Given the description of an element on the screen output the (x, y) to click on. 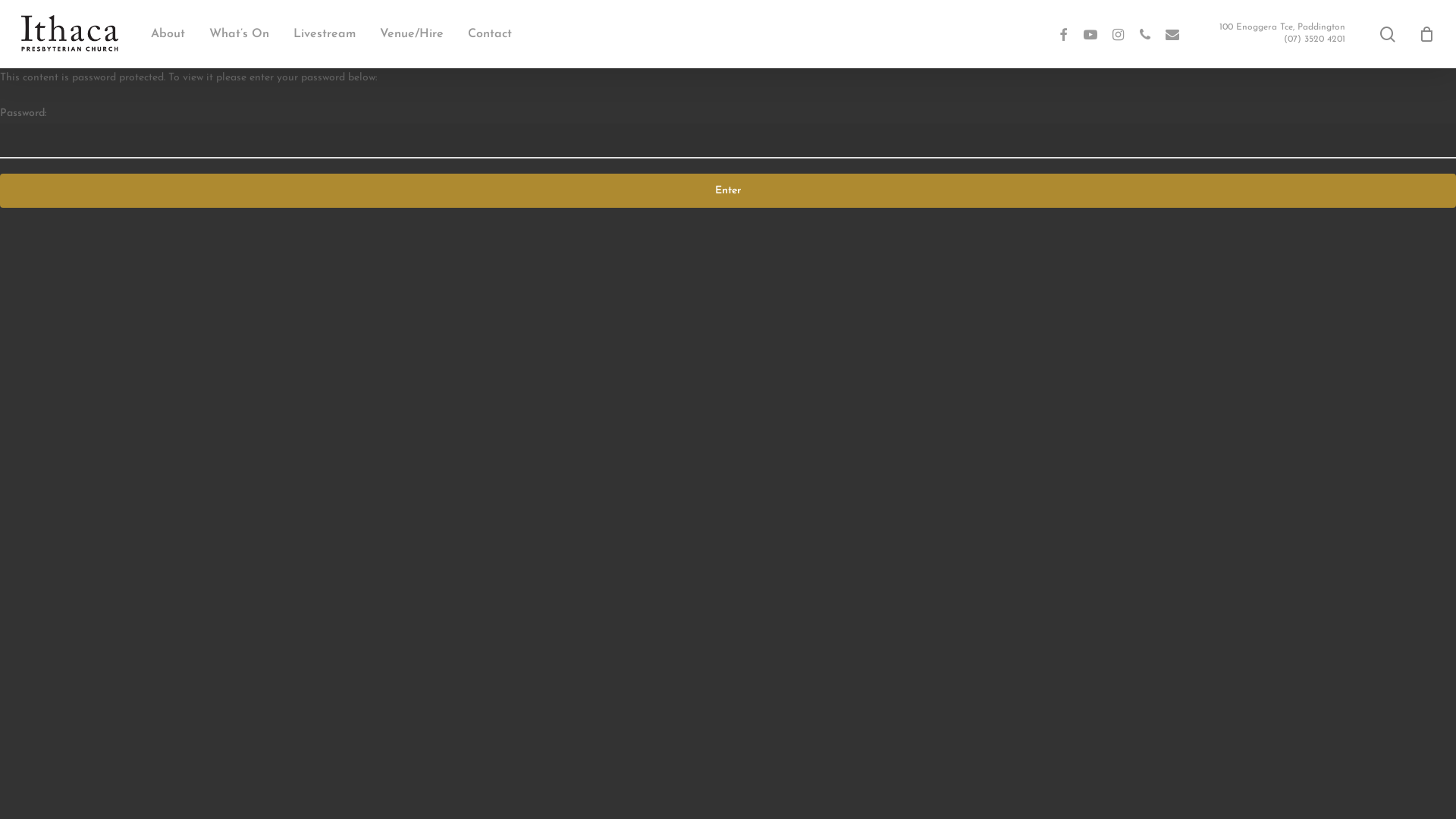
search Element type: text (1387, 33)
Instagram Element type: text (1117, 34)
Youtube Element type: text (1090, 34)
Email Element type: text (1172, 34)
About Element type: text (167, 33)
(07) 3520 4201 Element type: text (1314, 40)
Contact Element type: text (489, 33)
Livestream Element type: text (324, 33)
Facebook Element type: text (1062, 34)
Venue/Hire Element type: text (411, 33)
Phone Element type: text (1144, 34)
